Given the description of an element on the screen output the (x, y) to click on. 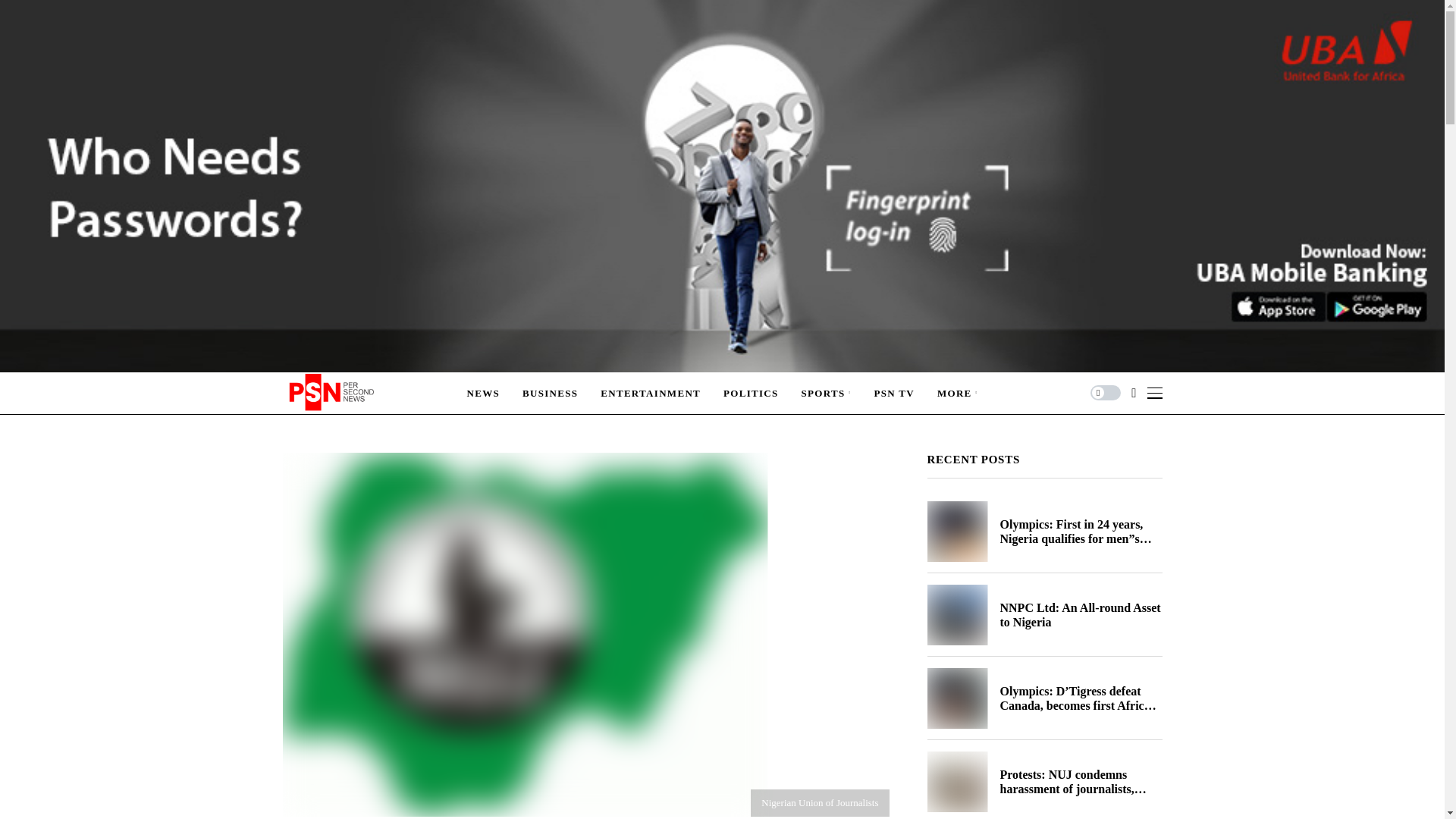
MORE (957, 393)
POLITICS (750, 393)
BUSINESS (550, 393)
PSN TV (893, 393)
ENTERTAINMENT (649, 393)
SPORTS (826, 393)
